Given the description of an element on the screen output the (x, y) to click on. 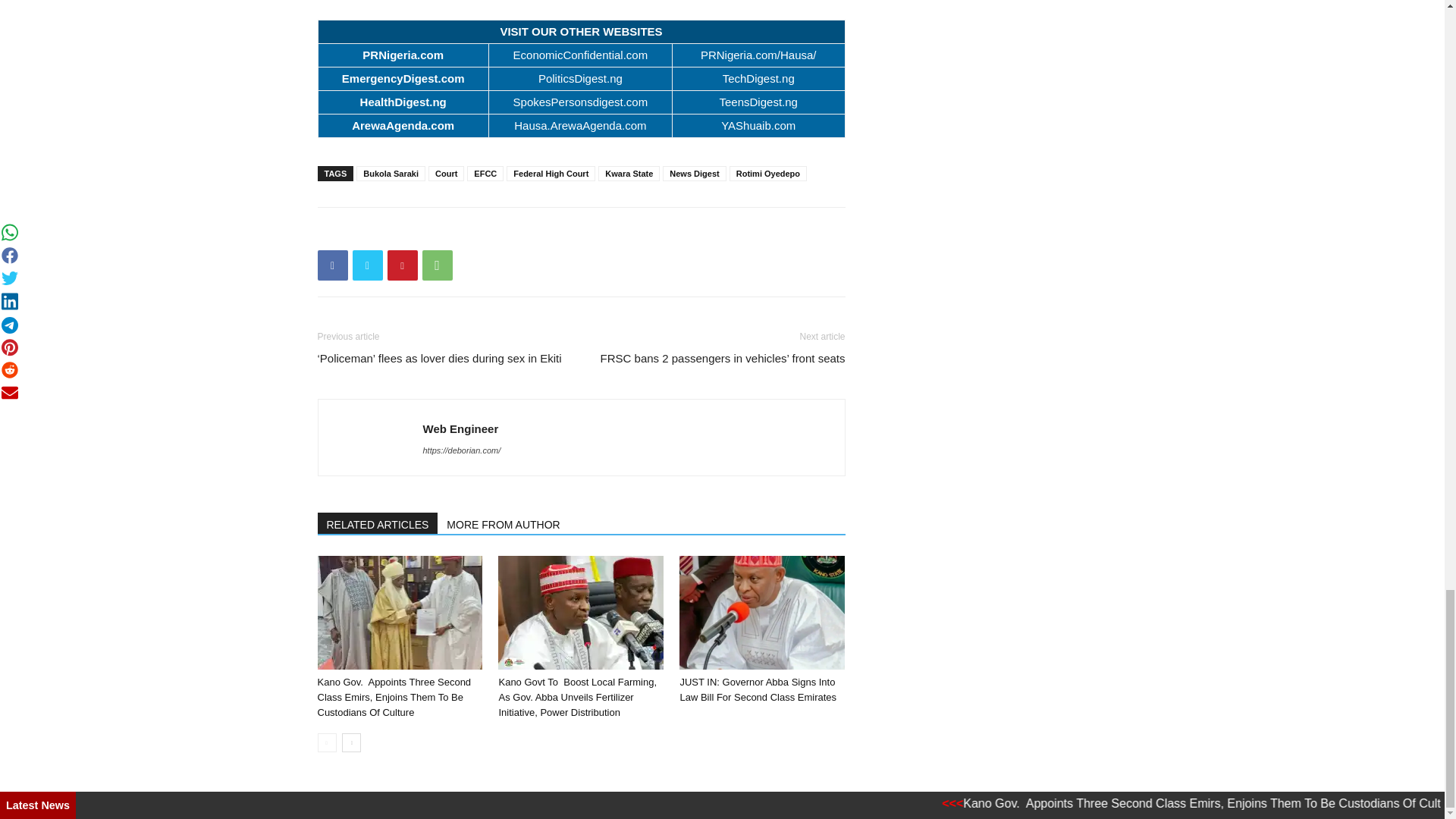
bottomFacebookLike (430, 231)
